Given the description of an element on the screen output the (x, y) to click on. 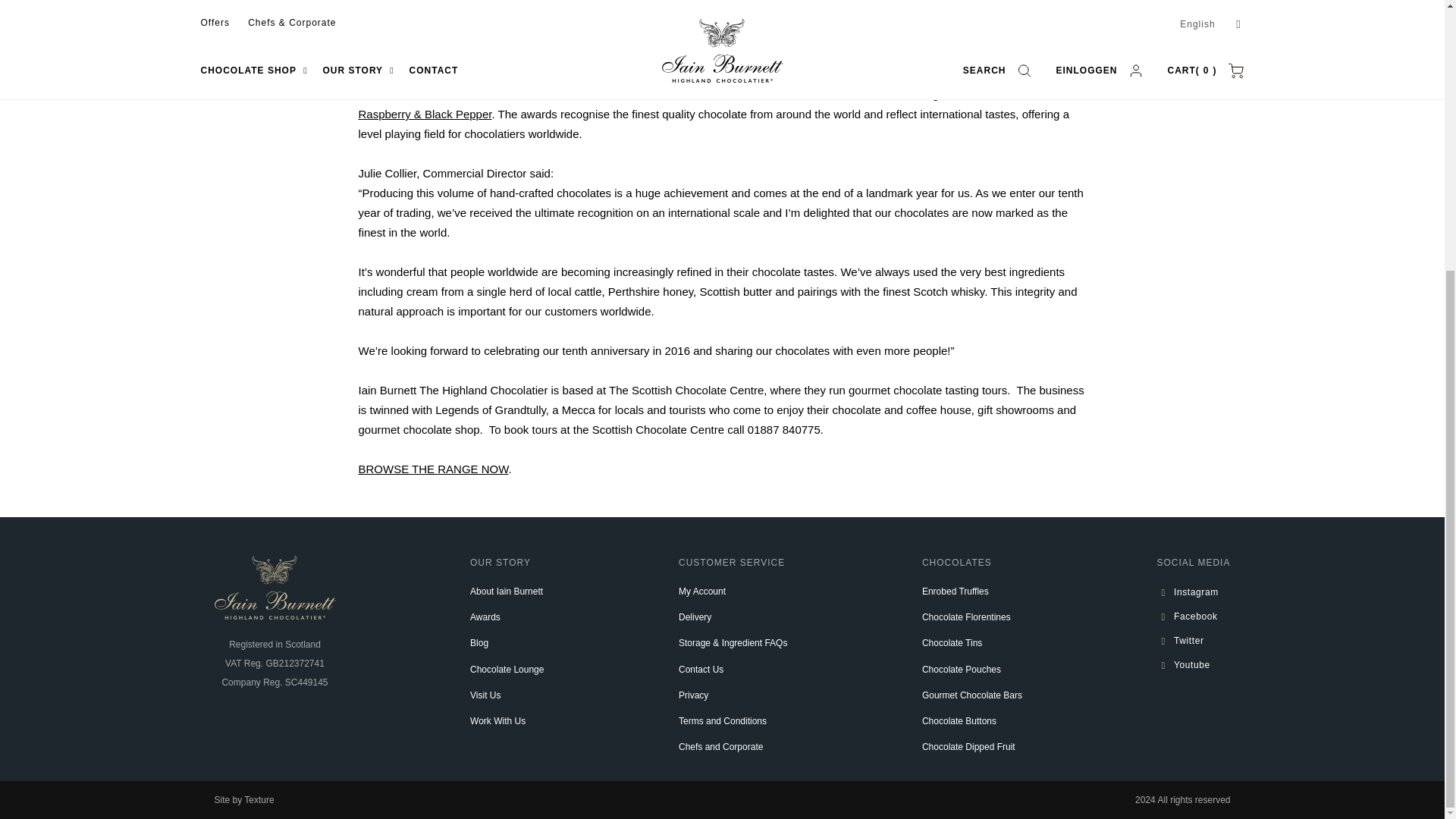
Highland Chocolatier on Instagram (1192, 591)
Highland Chocolatier on Twitter (1192, 640)
Highland Chocolatier on Facebook (1192, 616)
Highland Chocolatier on YouTube (1192, 664)
